Given the description of an element on the screen output the (x, y) to click on. 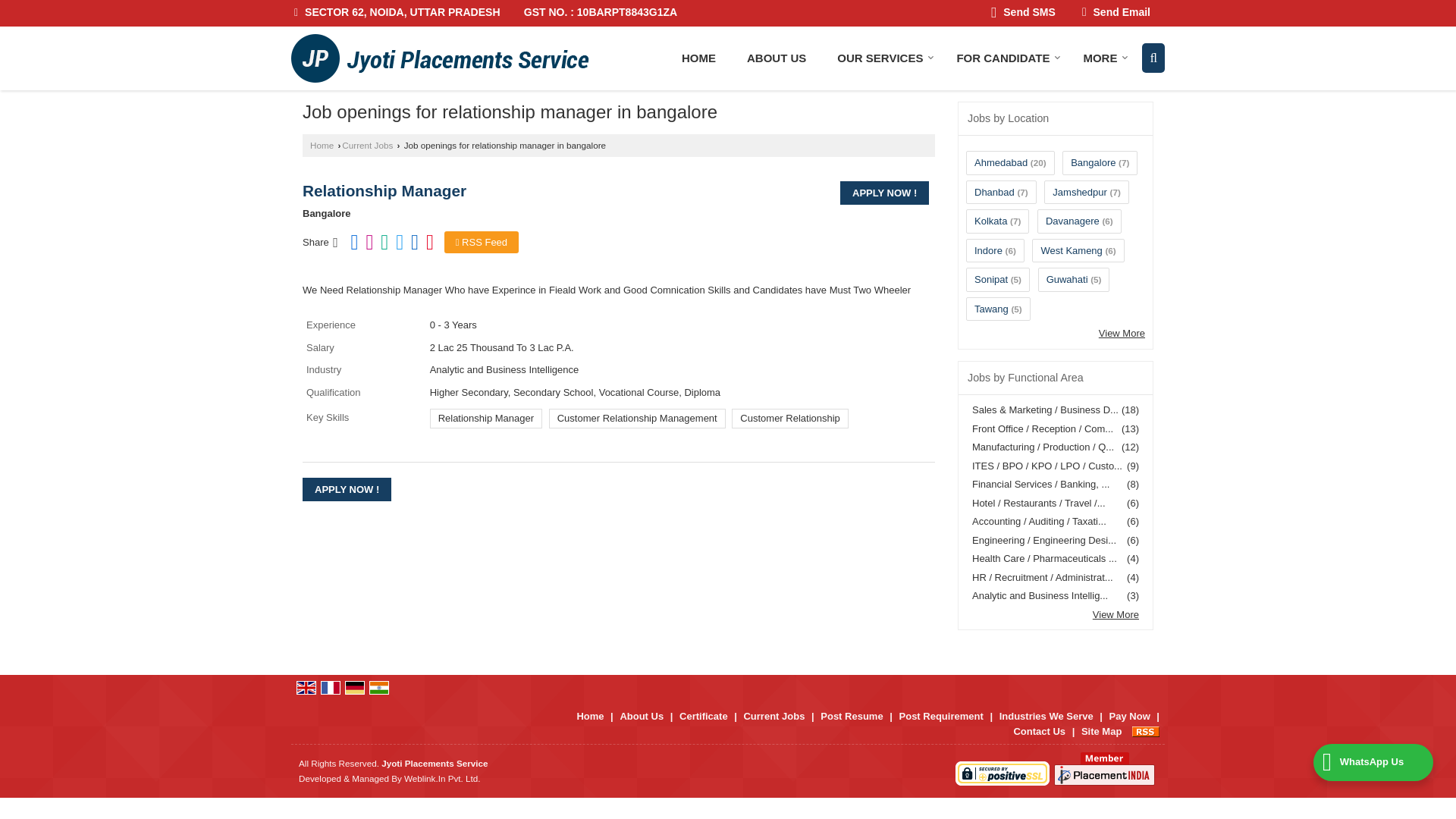
About Us (776, 58)
APPLY NOW ! (346, 489)
Send Email (1115, 13)
For Candidate (1003, 58)
Home (321, 144)
HOME (698, 58)
APPLY NOW ! (884, 192)
FOR CANDIDATE (1003, 58)
OUR SERVICES (881, 58)
Home (698, 58)
Our Services (881, 58)
ABOUT US (776, 58)
MORE (1100, 58)
Send SMS (1023, 13)
Jyoti Placements Service (440, 58)
